Given the description of an element on the screen output the (x, y) to click on. 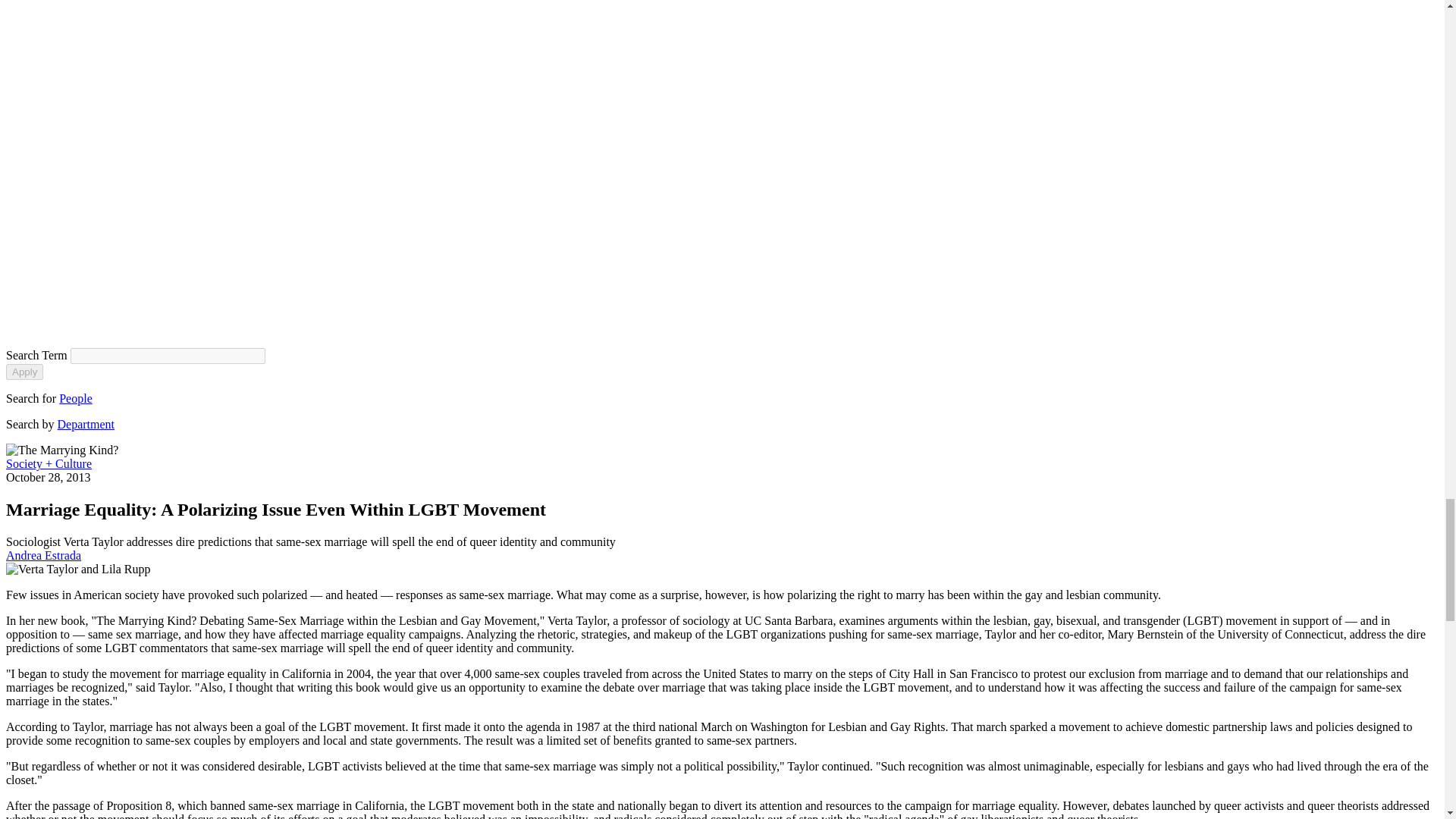
Apply (24, 371)
News by Department (86, 423)
Faculty and Researchers Directory (76, 398)
